Given the description of an element on the screen output the (x, y) to click on. 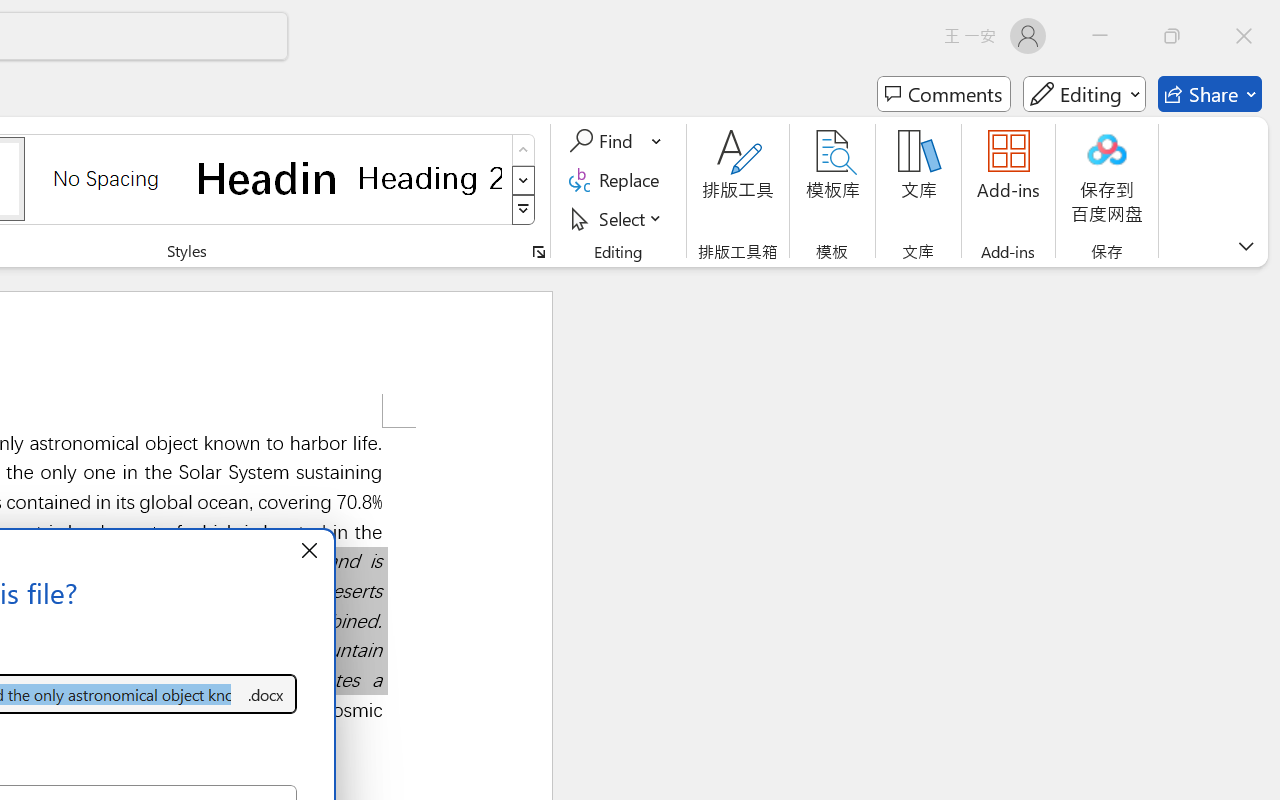
Styles... (538, 252)
Select (618, 218)
Save as type (265, 694)
Replace... (617, 179)
